Given the description of an element on the screen output the (x, y) to click on. 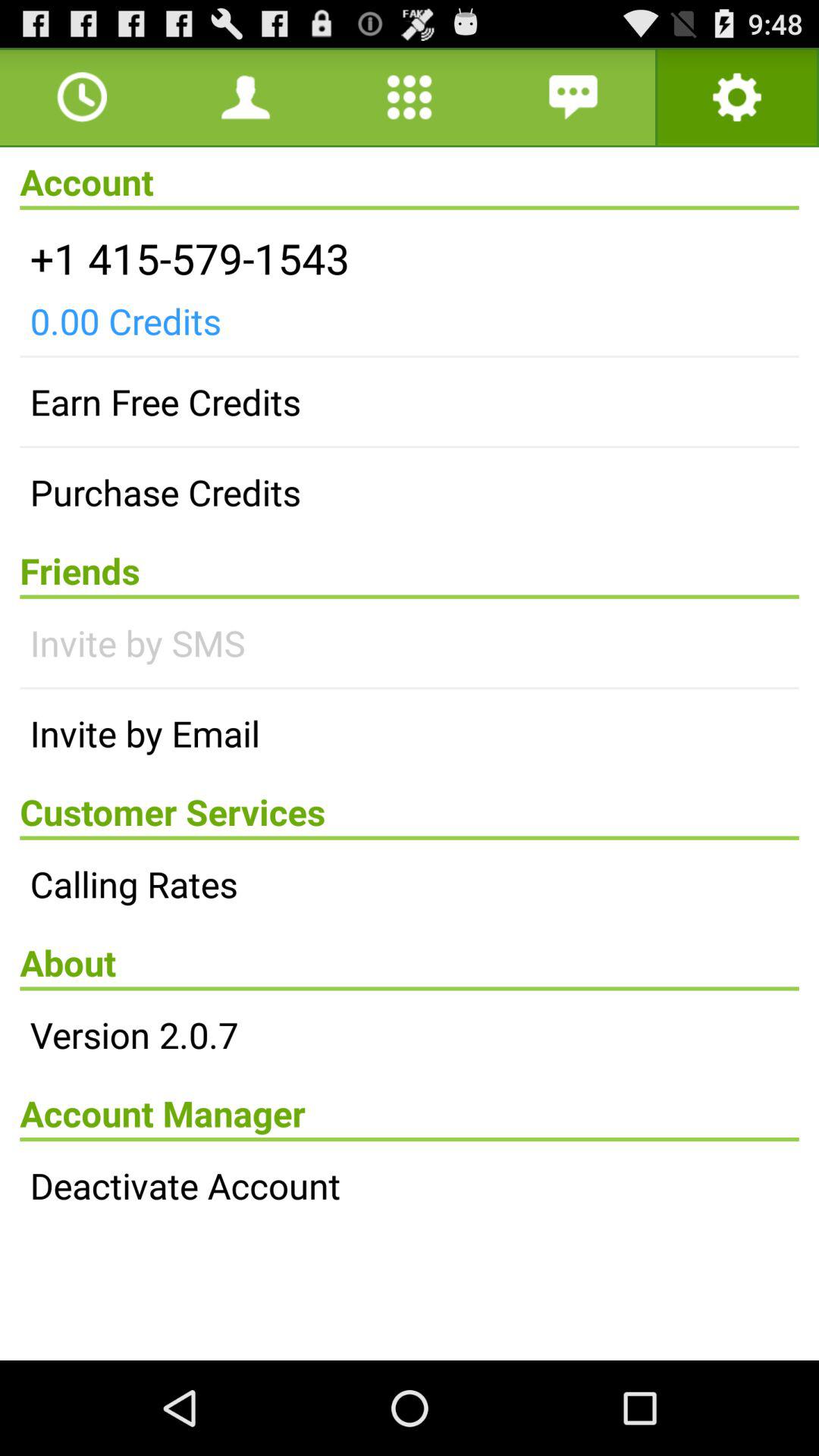
turn off version 2 0 item (409, 1034)
